Given the description of an element on the screen output the (x, y) to click on. 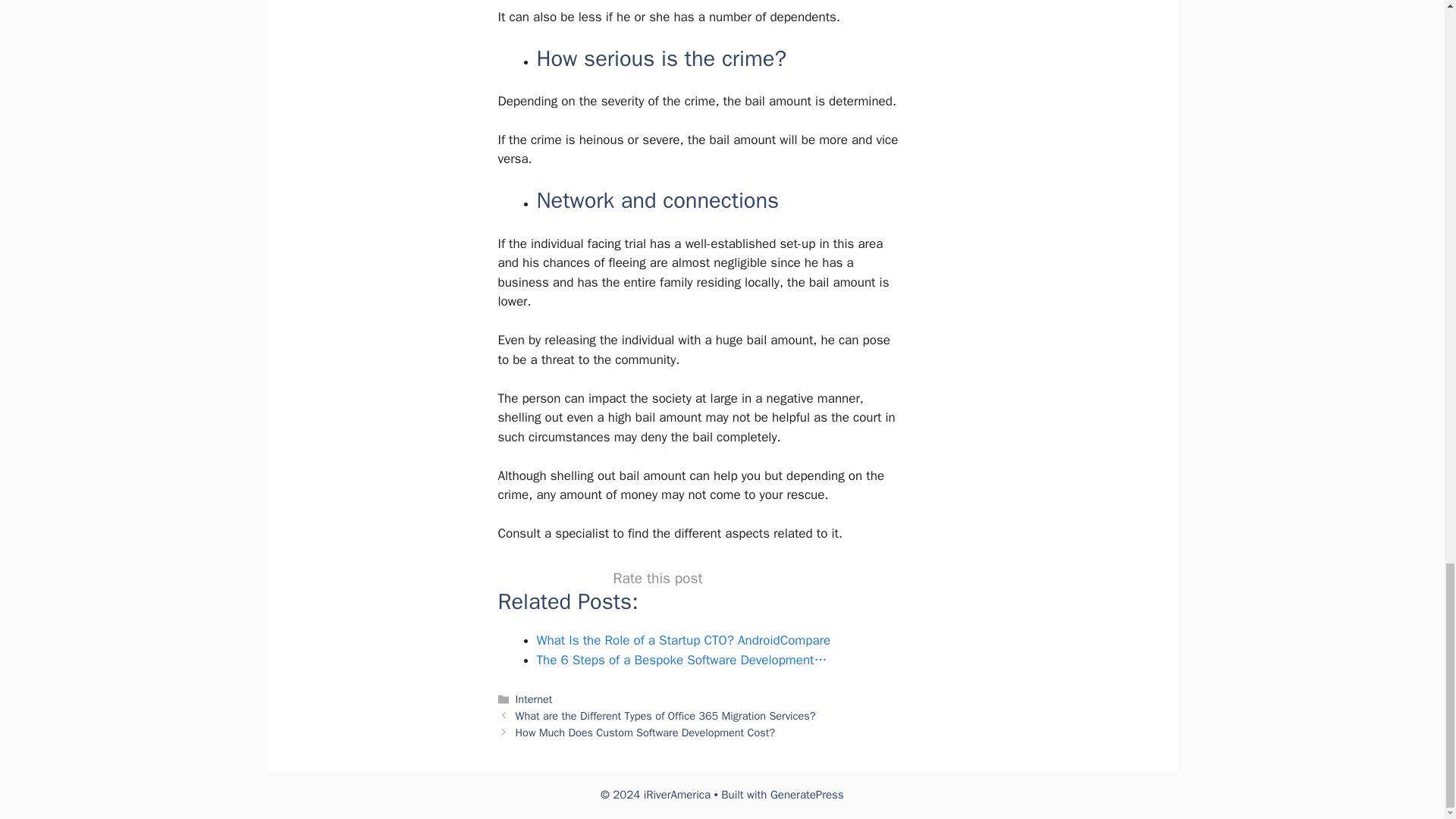
GeneratePress (807, 794)
What Is the Role of a Startup CTO? AndroidCompare (684, 640)
How Much Does Custom Software Development Cost? (645, 732)
Internet (534, 698)
